Given the description of an element on the screen output the (x, y) to click on. 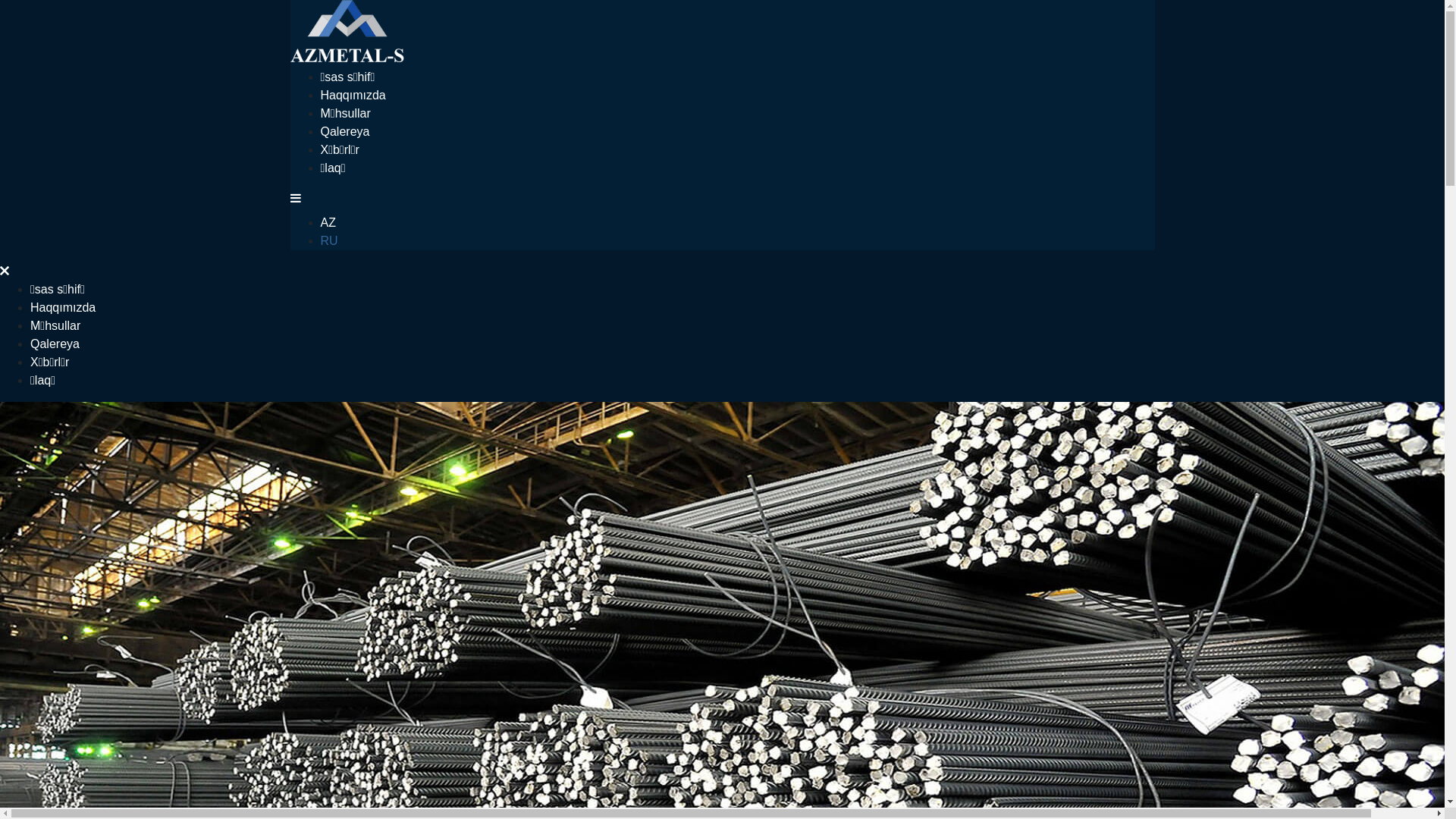
Qalereya Element type: text (344, 131)
AZ Element type: text (327, 222)
Qalereya Element type: text (54, 343)
RU Element type: text (328, 240)
